Given the description of an element on the screen output the (x, y) to click on. 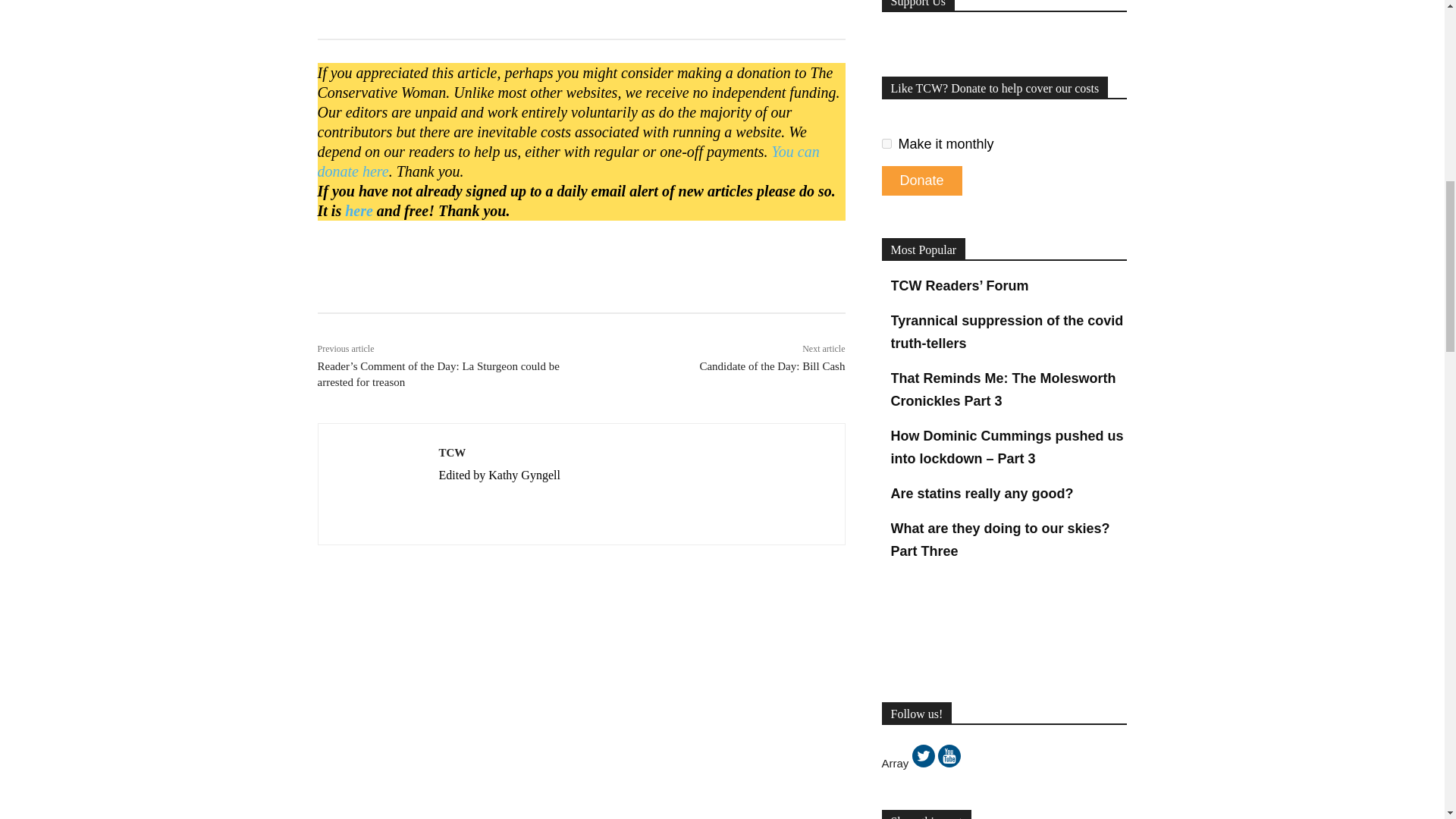
month (885, 143)
